Given the description of an element on the screen output the (x, y) to click on. 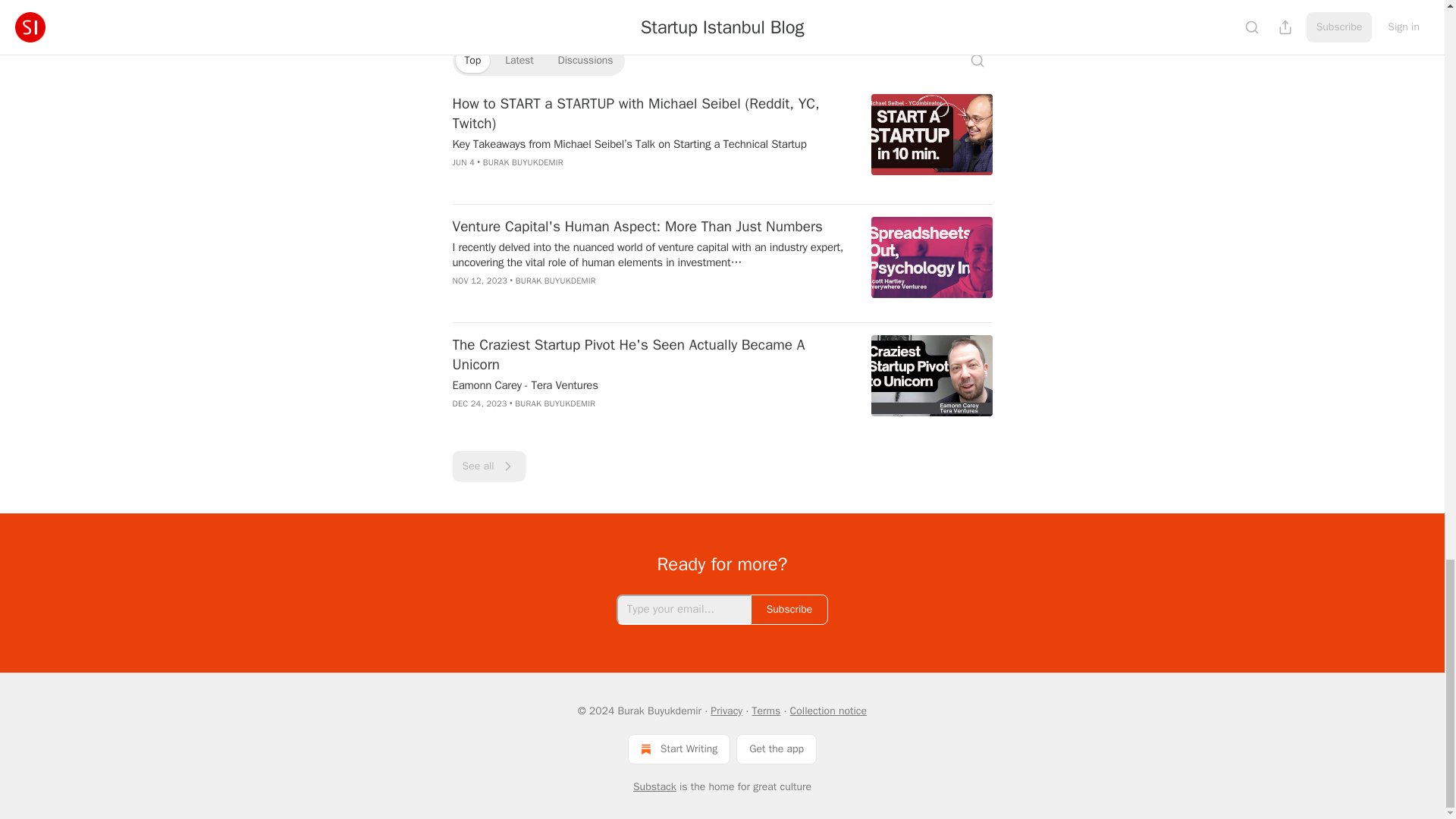
Latest (518, 60)
Top (471, 60)
Discussions (585, 60)
